Given the description of an element on the screen output the (x, y) to click on. 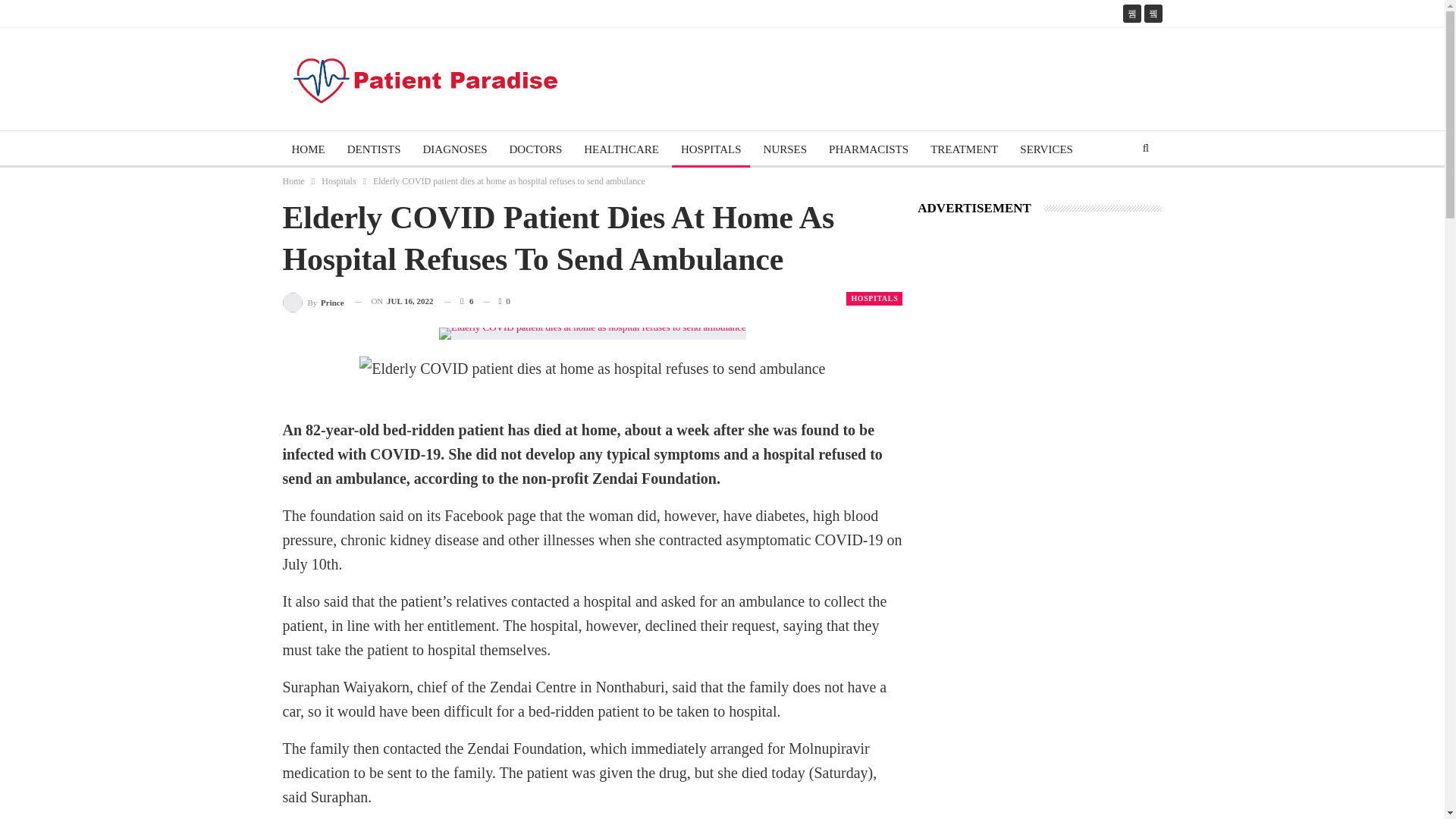
Browse Author Articles (312, 301)
By Prince (312, 301)
0 (495, 301)
Hospitals (338, 180)
DOCTORS (536, 149)
HOSPITALS (711, 149)
HOSPITALS (873, 298)
DENTISTS (373, 149)
PHARMACISTS (868, 149)
Home (293, 180)
DIAGNOSES (454, 149)
HOME (307, 149)
TREATMENT (964, 149)
SERVICES (1045, 149)
